Given the description of an element on the screen output the (x, y) to click on. 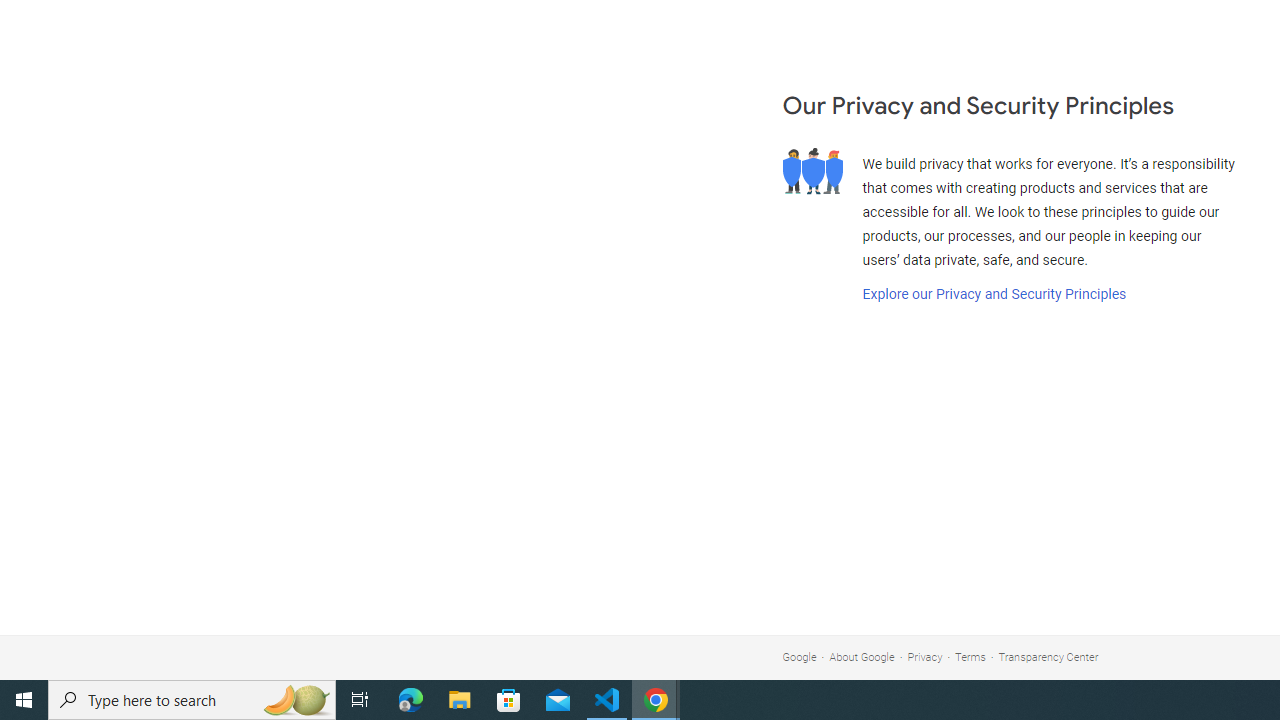
Transparency Center (1048, 656)
Explore our Privacy and Security Principles (993, 294)
About Google (861, 656)
